Given the description of an element on the screen output the (x, y) to click on. 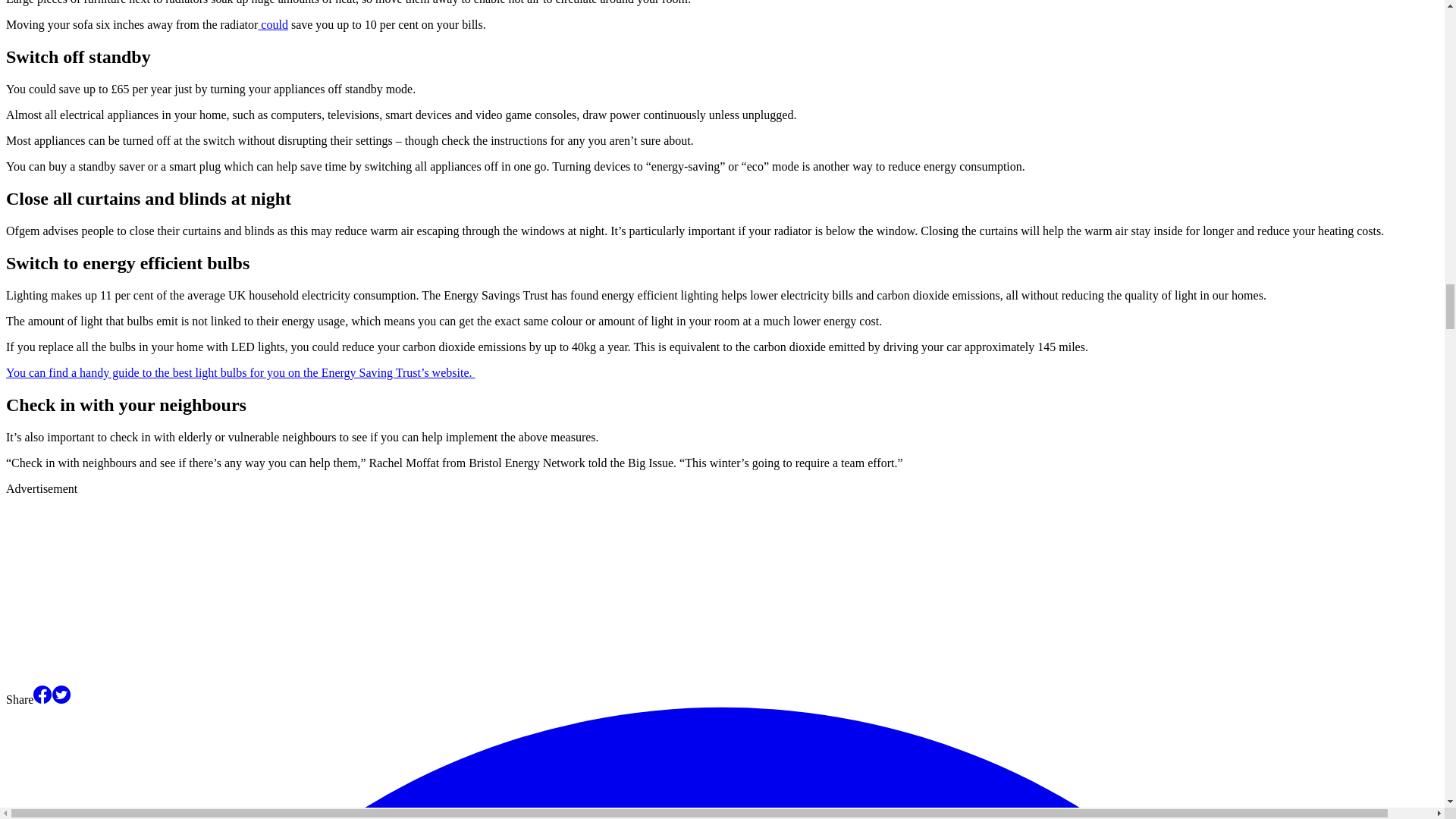
could (272, 24)
